Given the description of an element on the screen output the (x, y) to click on. 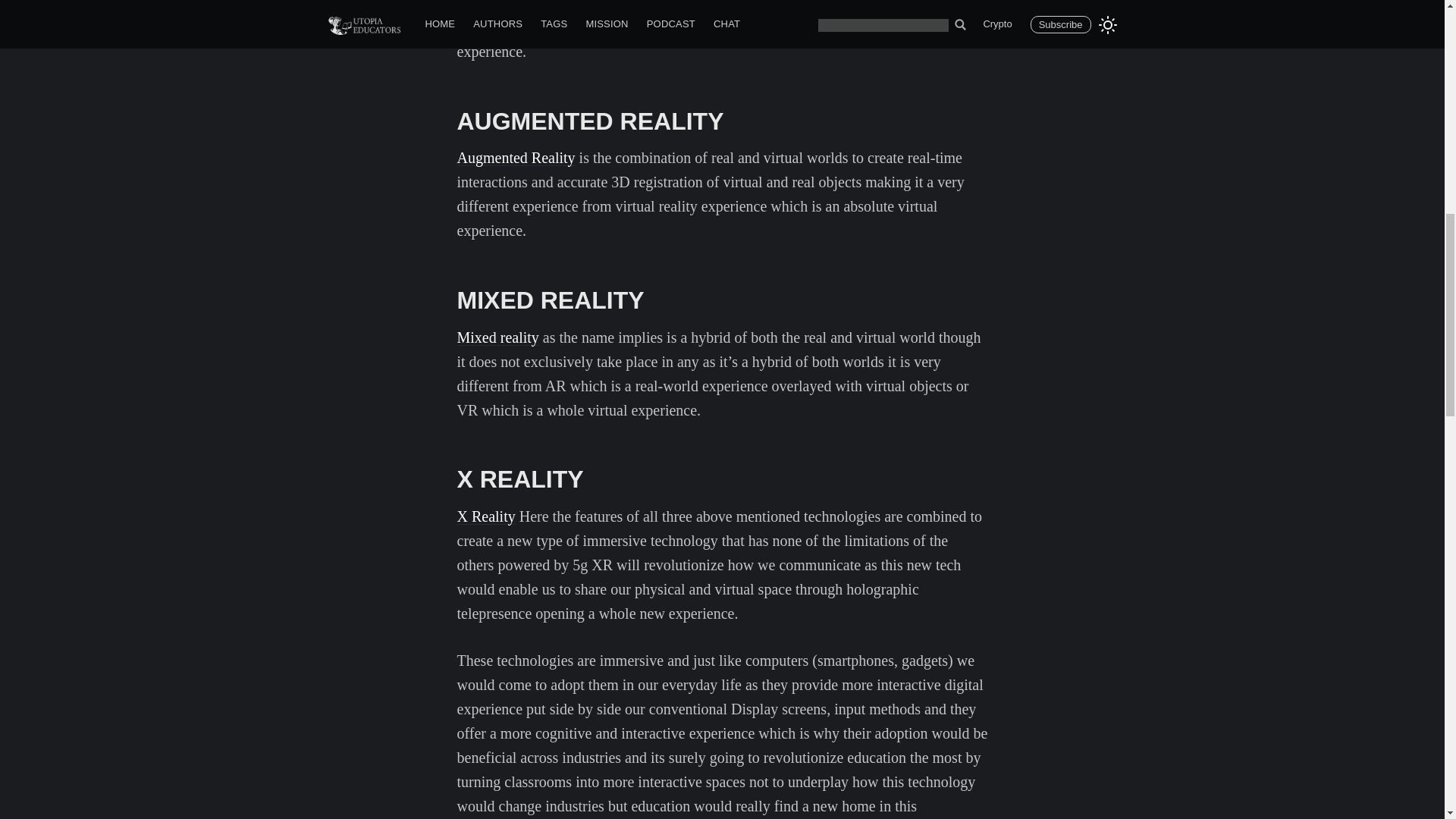
Augmented Reality (516, 157)
X Reality (486, 515)
Virtual reality (499, 5)
Mixed reality (497, 337)
